Given the description of an element on the screen output the (x, y) to click on. 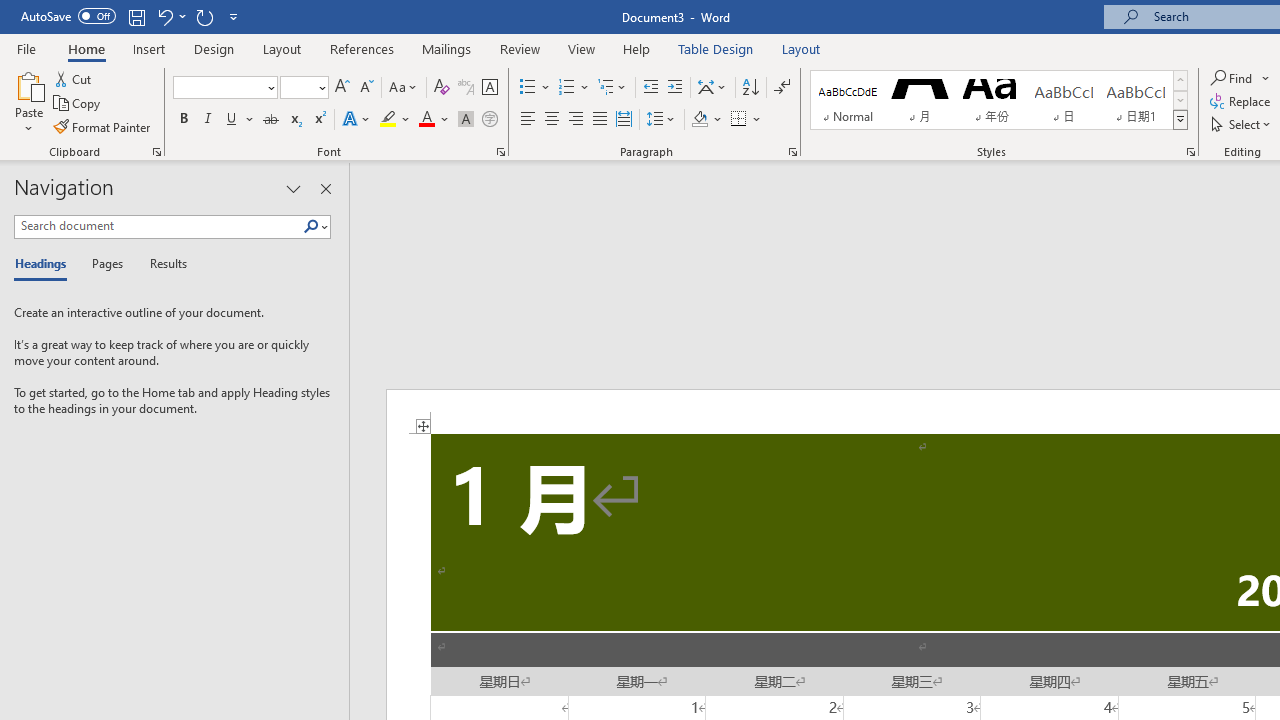
Borders (746, 119)
Shading RGB(0, 0, 0) (699, 119)
Show/Hide Editing Marks (781, 87)
Styles (1179, 120)
Distributed (623, 119)
Grow Font (342, 87)
Search document (157, 226)
Find (1233, 78)
Paste (28, 102)
Select (1242, 124)
Save (136, 15)
Phonetic Guide... (465, 87)
Repeat Style (204, 15)
Shrink Font (365, 87)
References (362, 48)
